Given the description of an element on the screen output the (x, y) to click on. 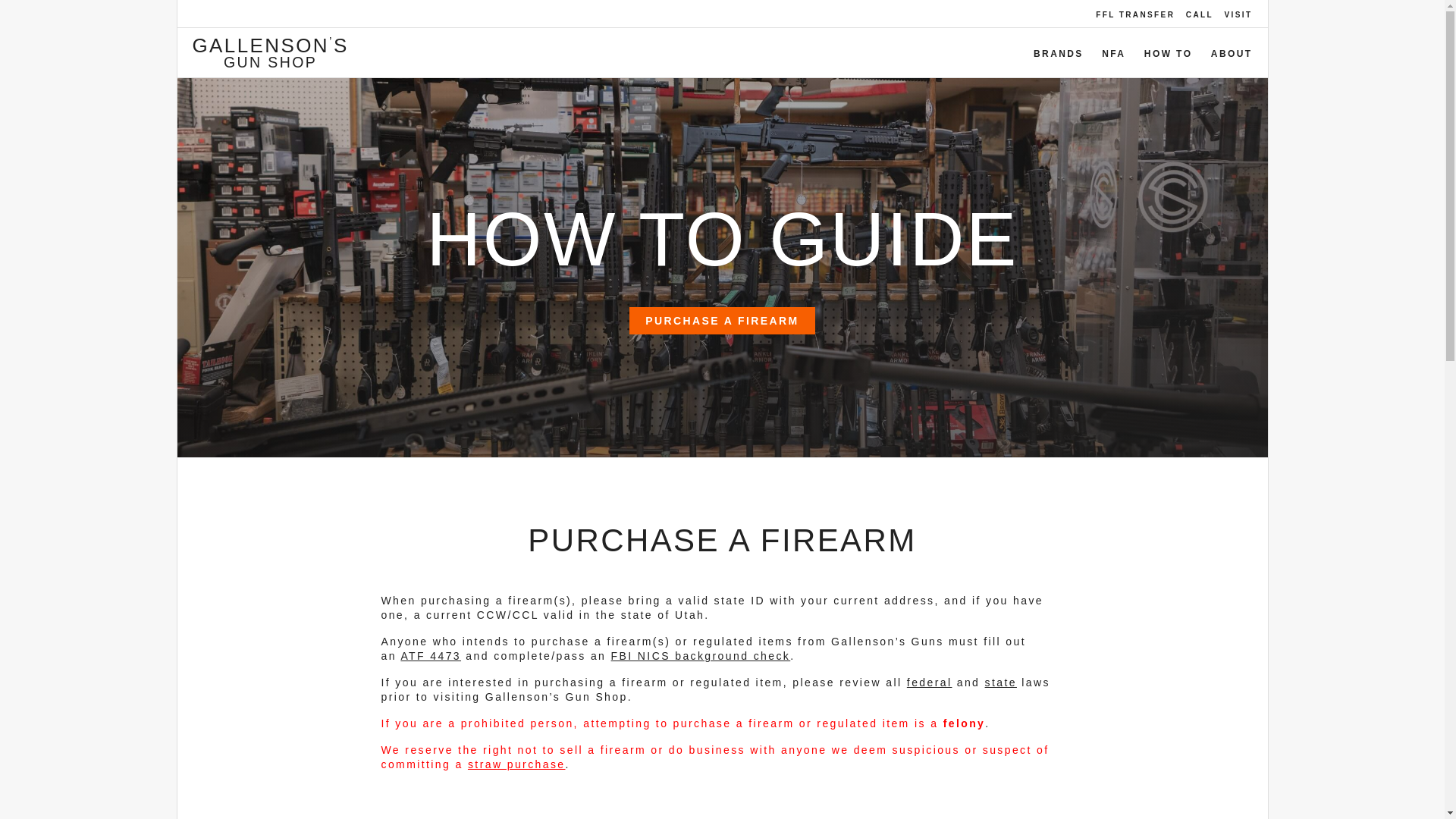
PURCHASE A FIREARM (720, 320)
HOW TO (1168, 53)
FFL TRANSFER (1135, 14)
straw purchase (516, 764)
CALL (1199, 14)
VISIT (1238, 14)
ABOUT (1231, 53)
federal (929, 682)
NFA (1113, 53)
BRANDS (1058, 53)
FBI NICS background check (700, 655)
ATF 4473 (430, 655)
state (1000, 682)
